Given the description of an element on the screen output the (x, y) to click on. 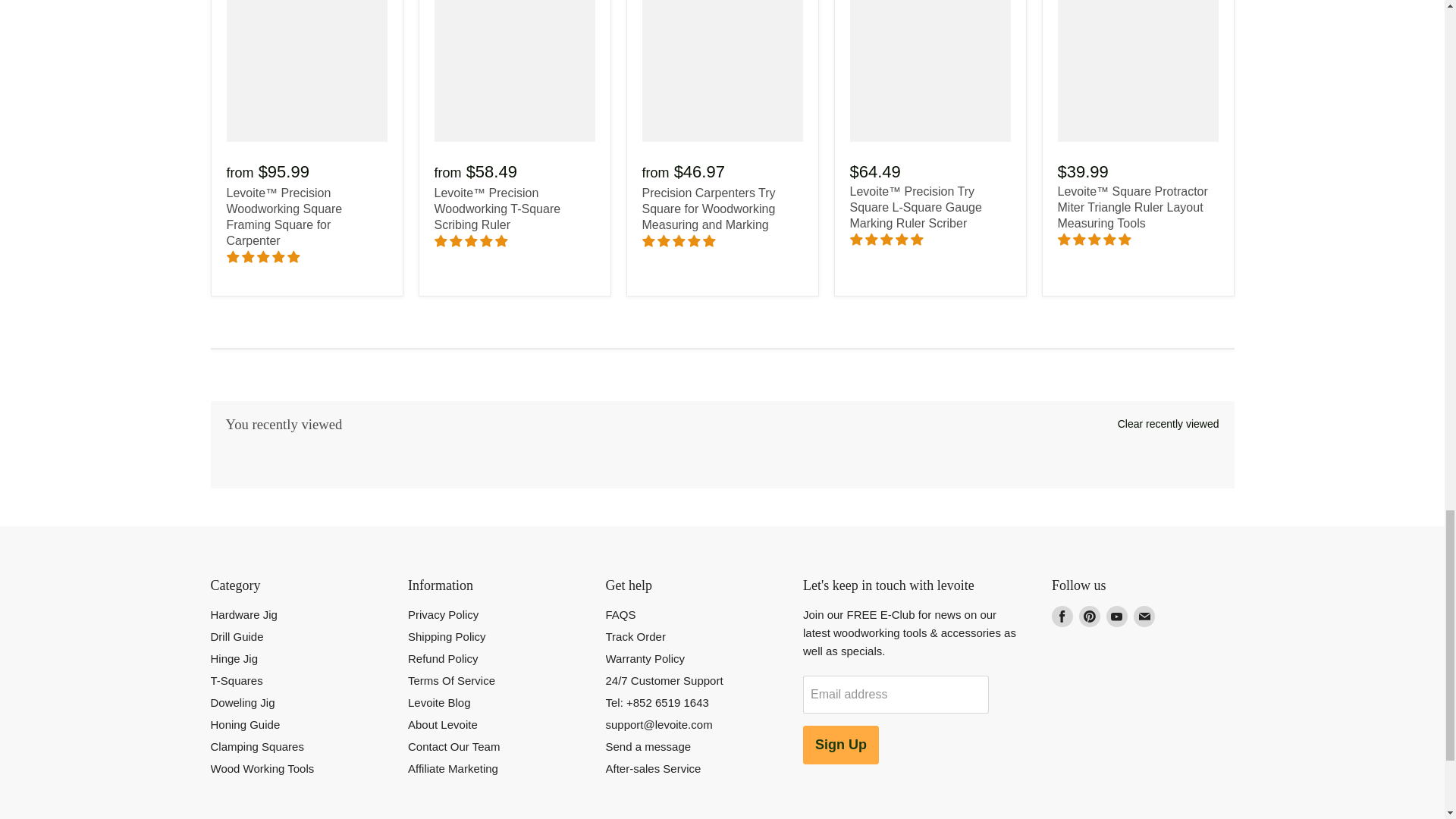
E-mail (1144, 615)
Facebook (1061, 615)
Youtube (1117, 615)
Pinterest (1089, 615)
